Given the description of an element on the screen output the (x, y) to click on. 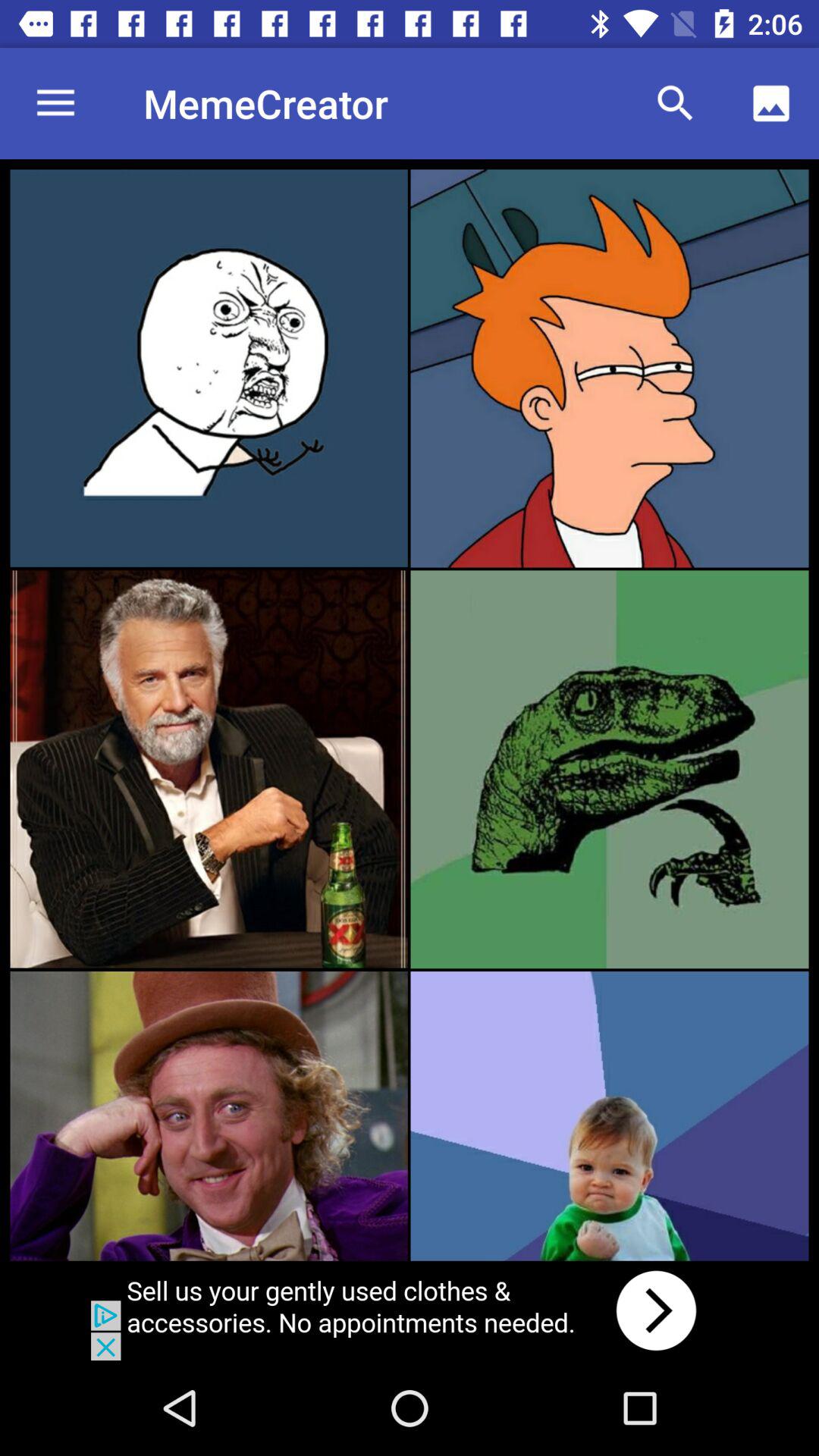
select meme (208, 368)
